Given the description of an element on the screen output the (x, y) to click on. 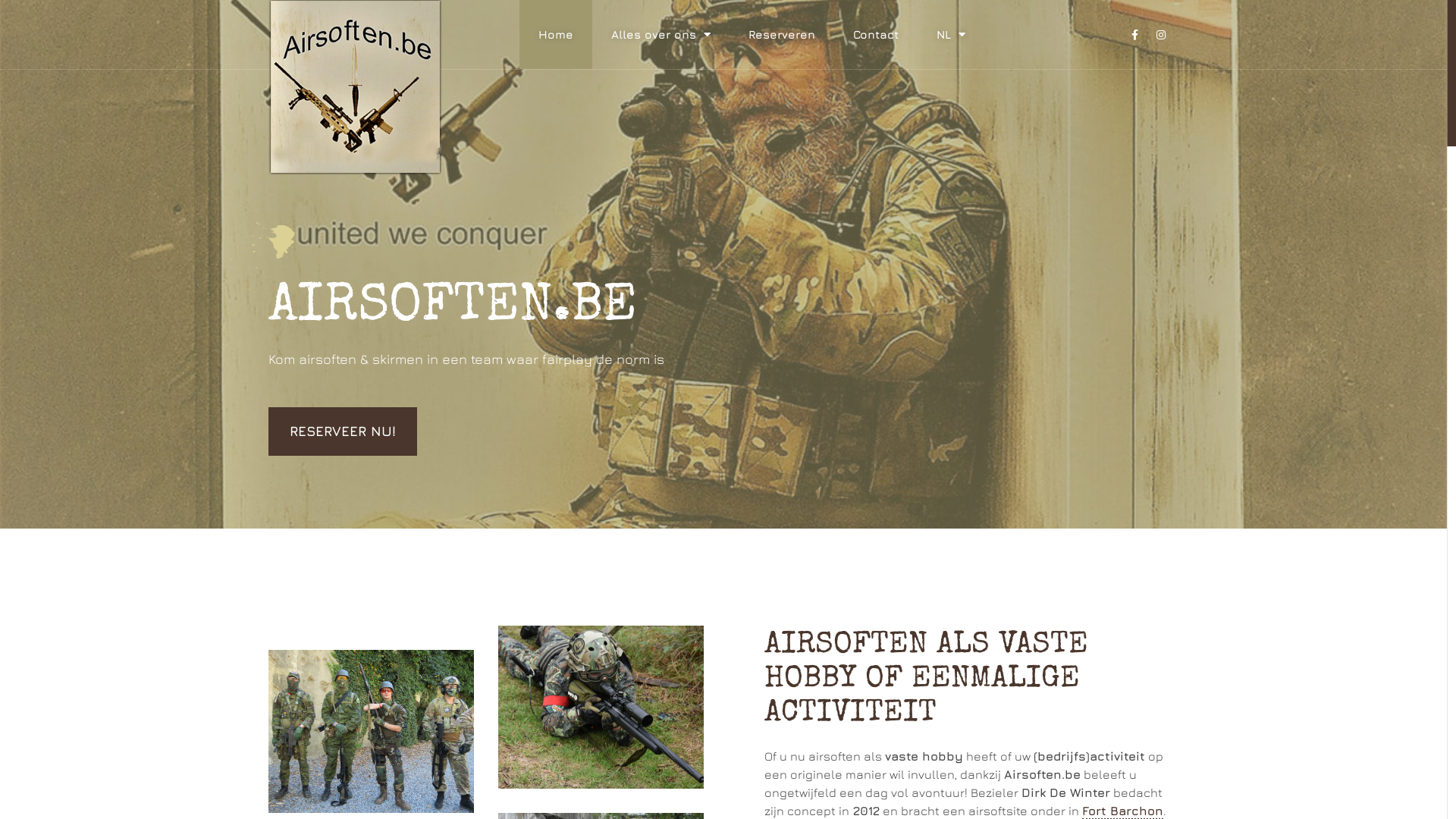
NL Element type: text (950, 34)
Reserveren Element type: text (781, 34)
RESERVEER NU! Element type: text (342, 431)
Alles over ons Element type: text (660, 34)
Home Element type: text (555, 34)
Contact Element type: text (875, 34)
